Given the description of an element on the screen output the (x, y) to click on. 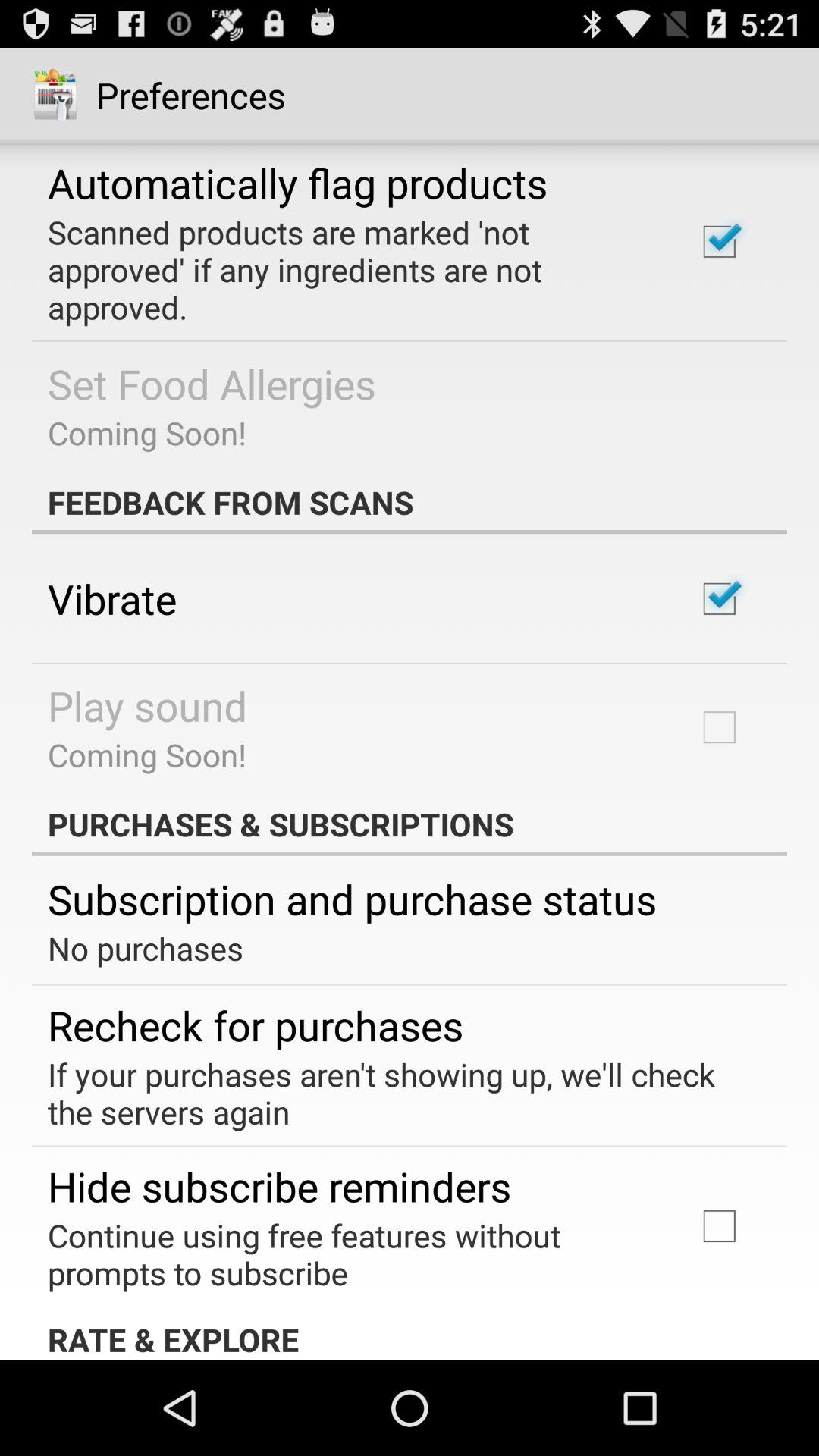
jump to vibrate icon (111, 598)
